Given the description of an element on the screen output the (x, y) to click on. 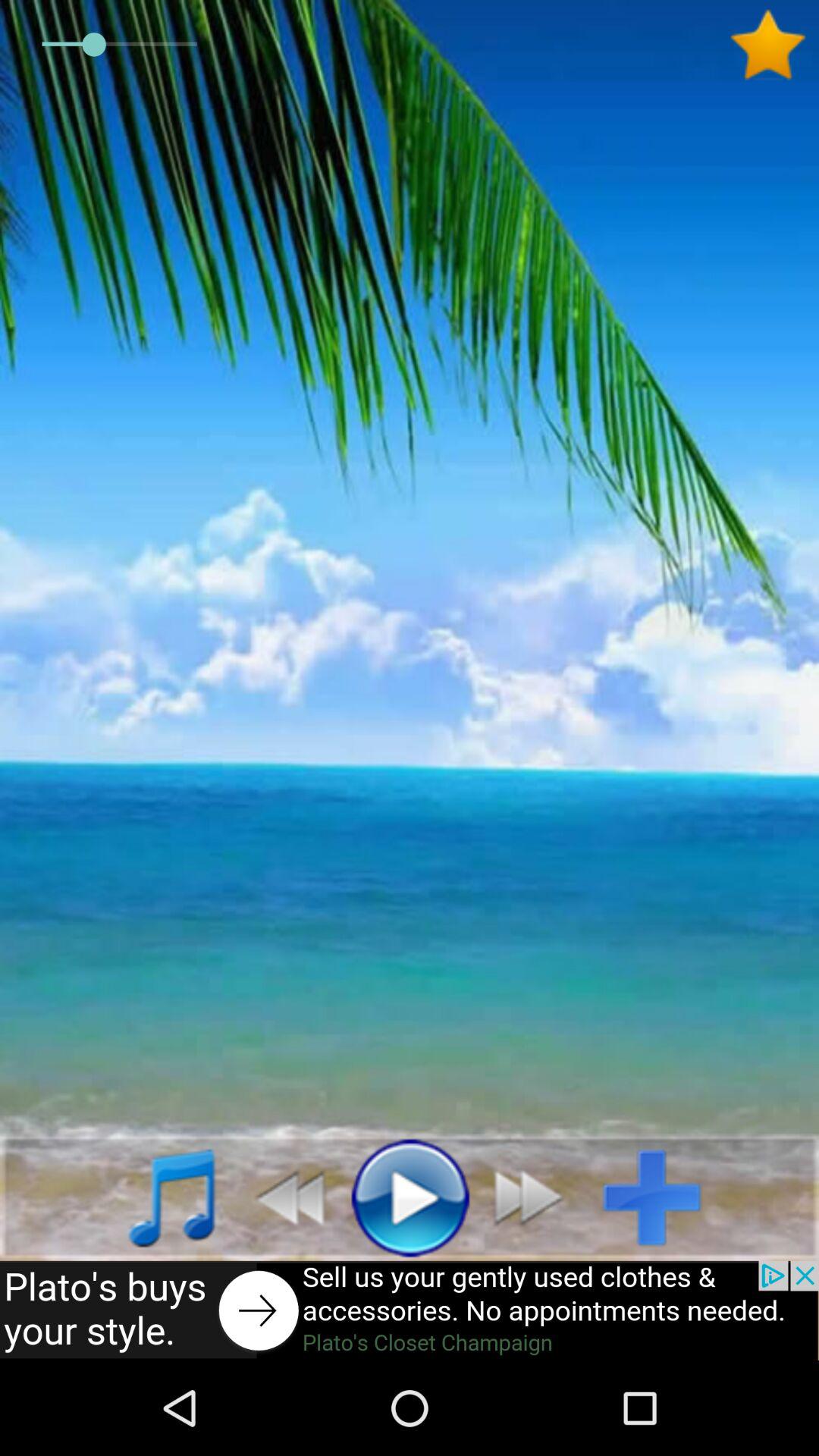
click to favorites (774, 44)
